Given the description of an element on the screen output the (x, y) to click on. 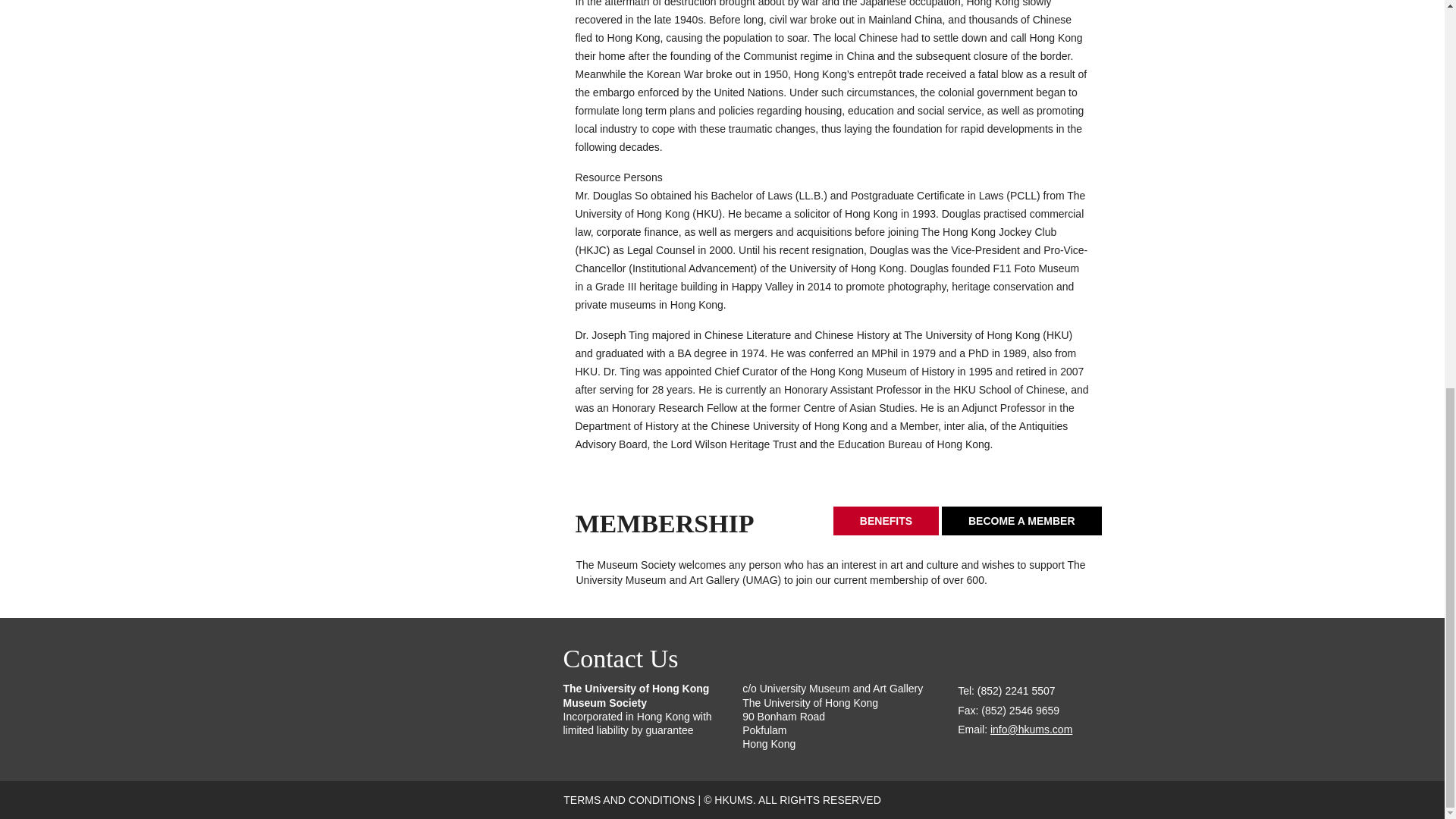
BENEFITS (885, 521)
BECOME A MEMBER (1022, 521)
TERMS AND CONDITIONS (628, 799)
